Given the description of an element on the screen output the (x, y) to click on. 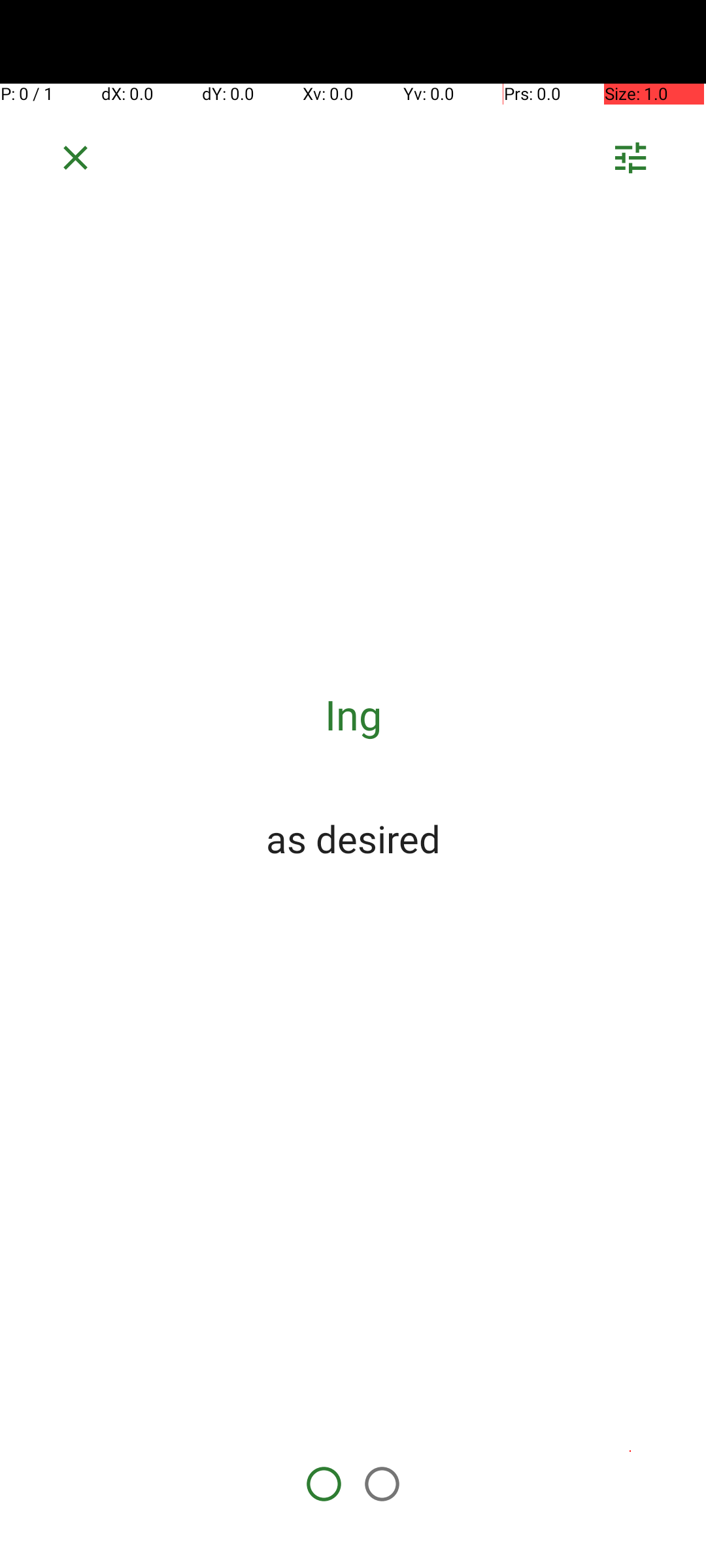
as desired Element type: android.widget.TextView (352, 838)
